Given the description of an element on the screen output the (x, y) to click on. 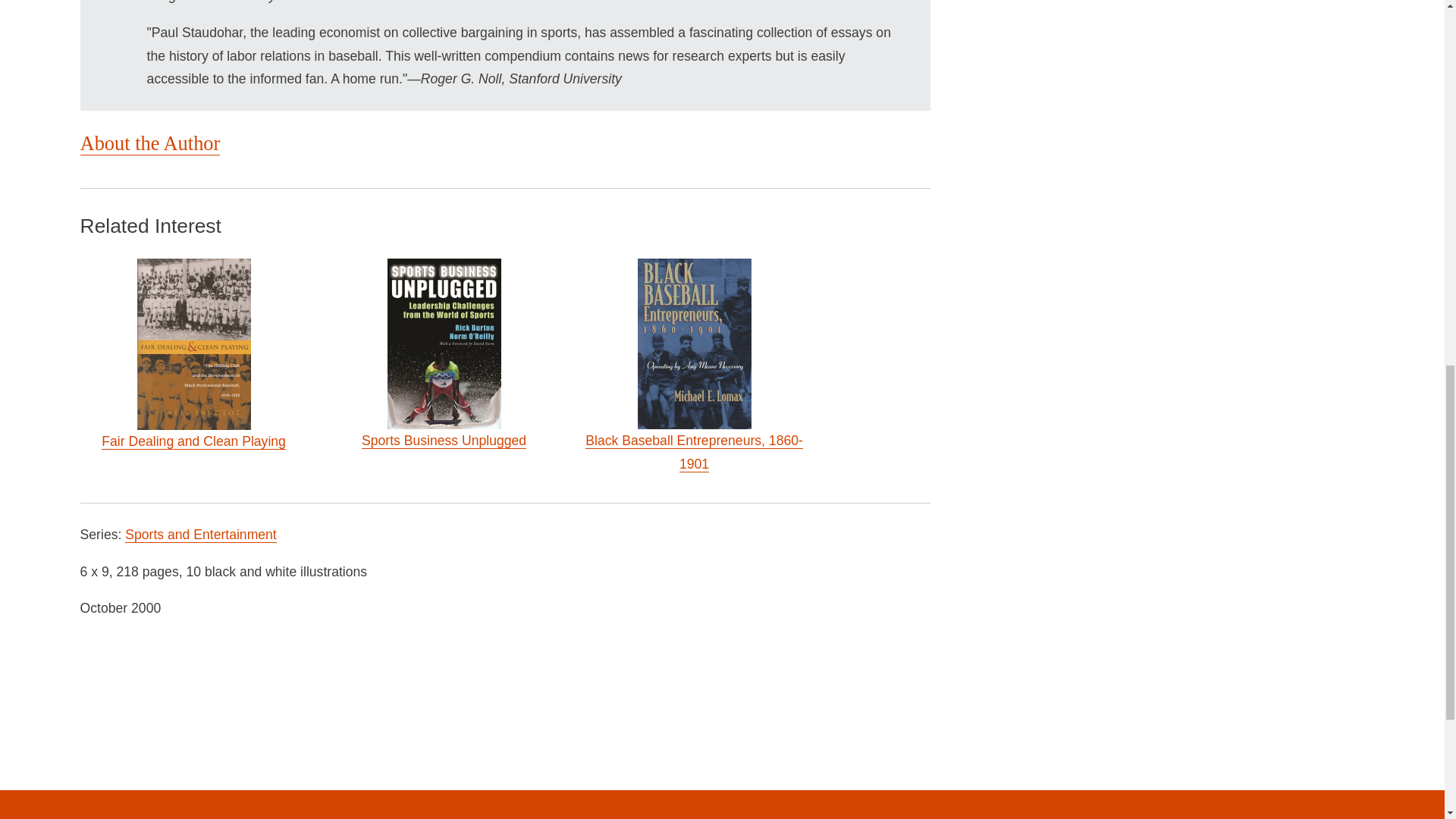
Sports and Entertainment (200, 534)
LinkedIn (315, 807)
Black Baseball Entrepreneurs, 1860-1901 (694, 452)
X (90, 807)
Facebook (165, 807)
YouTube (240, 807)
Sports Business Unplugged (443, 440)
About the Author (150, 143)
Instagram (390, 807)
Fair Dealing and Clean Playing (193, 441)
